Given the description of an element on the screen output the (x, y) to click on. 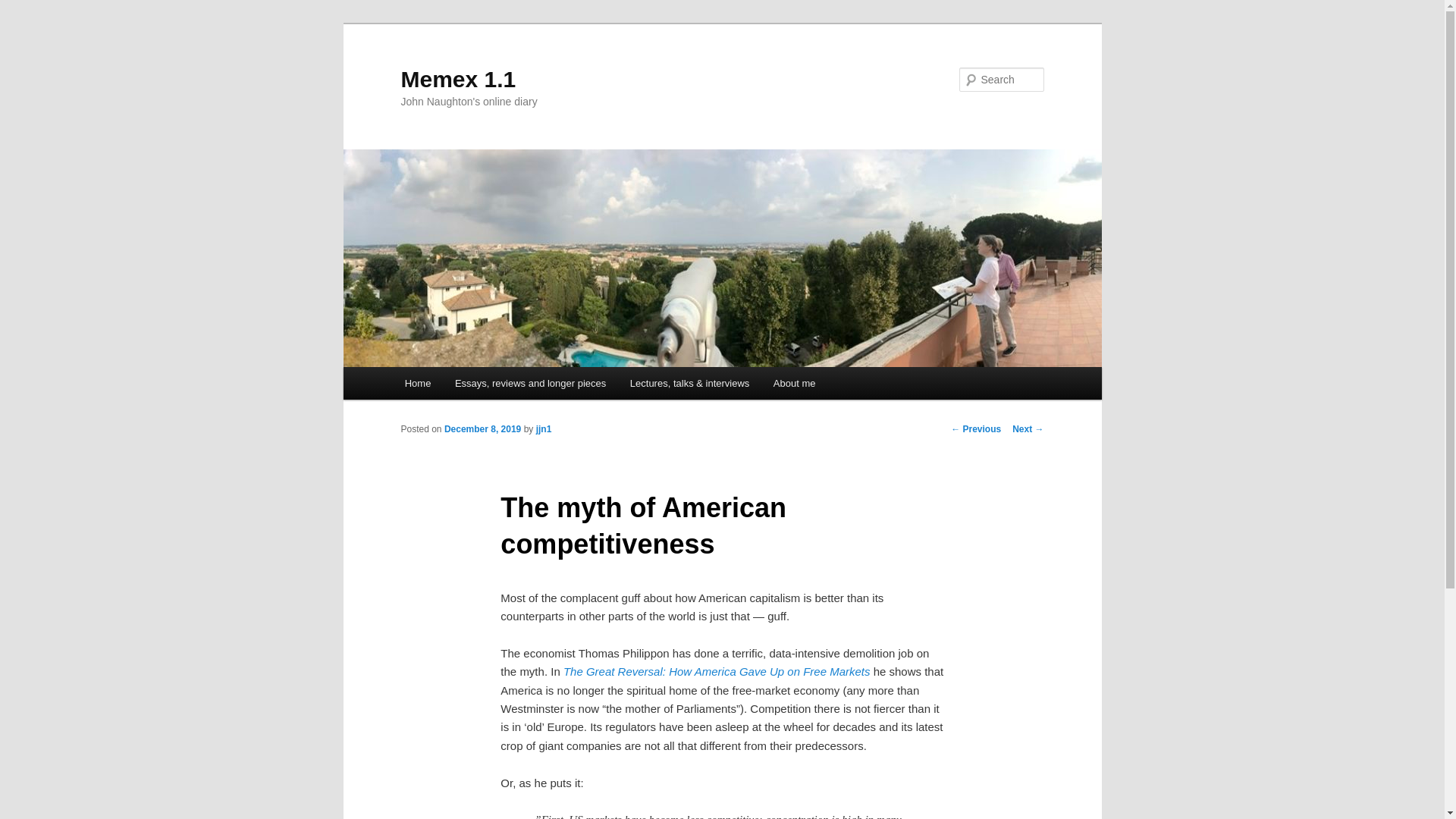
About me (794, 382)
December 8, 2019 (482, 429)
Search (24, 8)
Essays, reviews and longer pieces (529, 382)
jjn1 (543, 429)
The Great Reversal: How America Gave Up on Free Markets (716, 671)
Memex 1.1 (457, 78)
Home (417, 382)
